Given the description of an element on the screen output the (x, y) to click on. 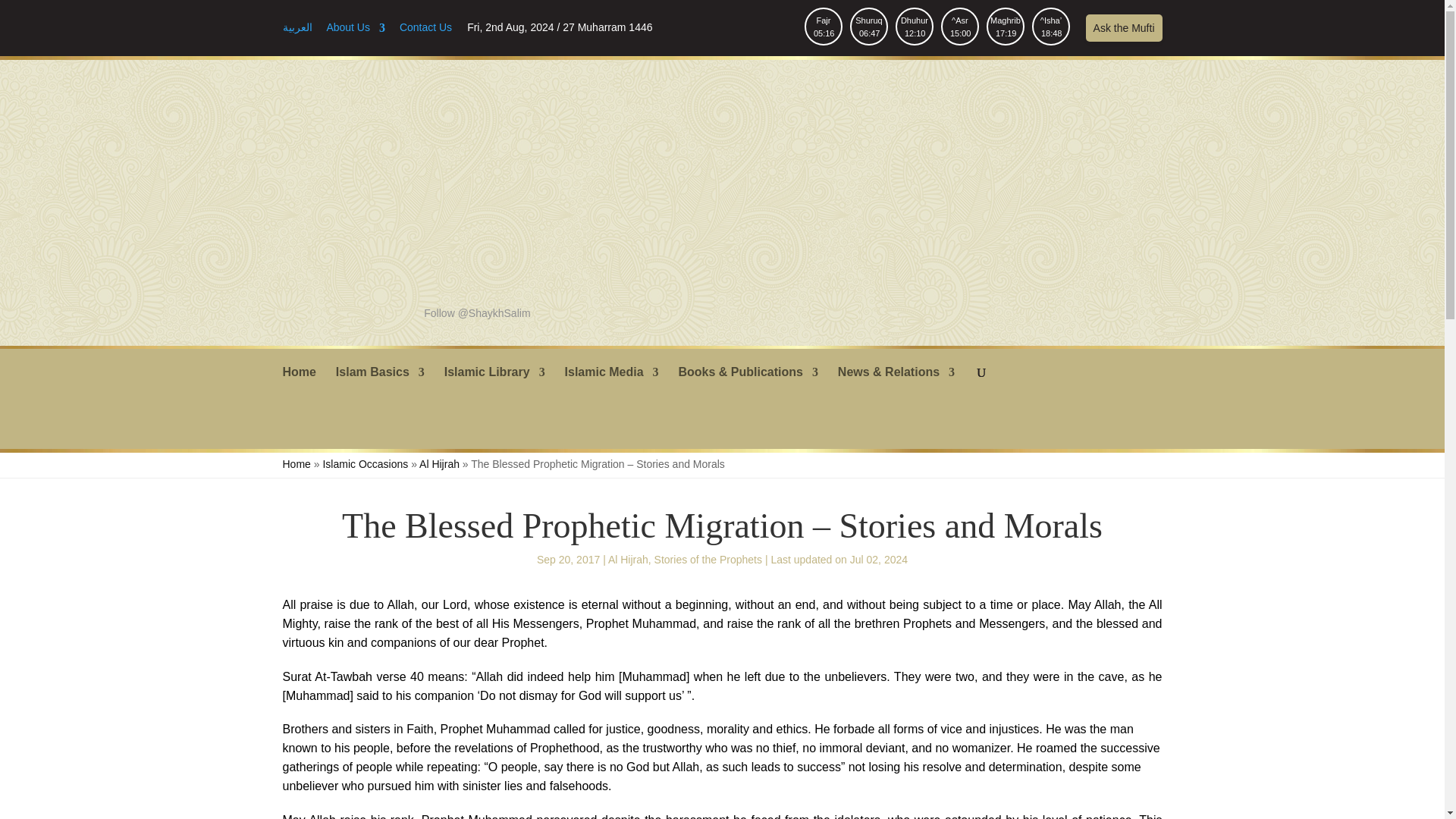
Islamic Library (914, 26)
Ask the Mufti (494, 384)
About Us (1123, 27)
About Us (355, 31)
Islamic Multimedia (355, 31)
Contact Us (611, 384)
Islam Basics (1006, 26)
Home (424, 31)
